Given the description of an element on the screen output the (x, y) to click on. 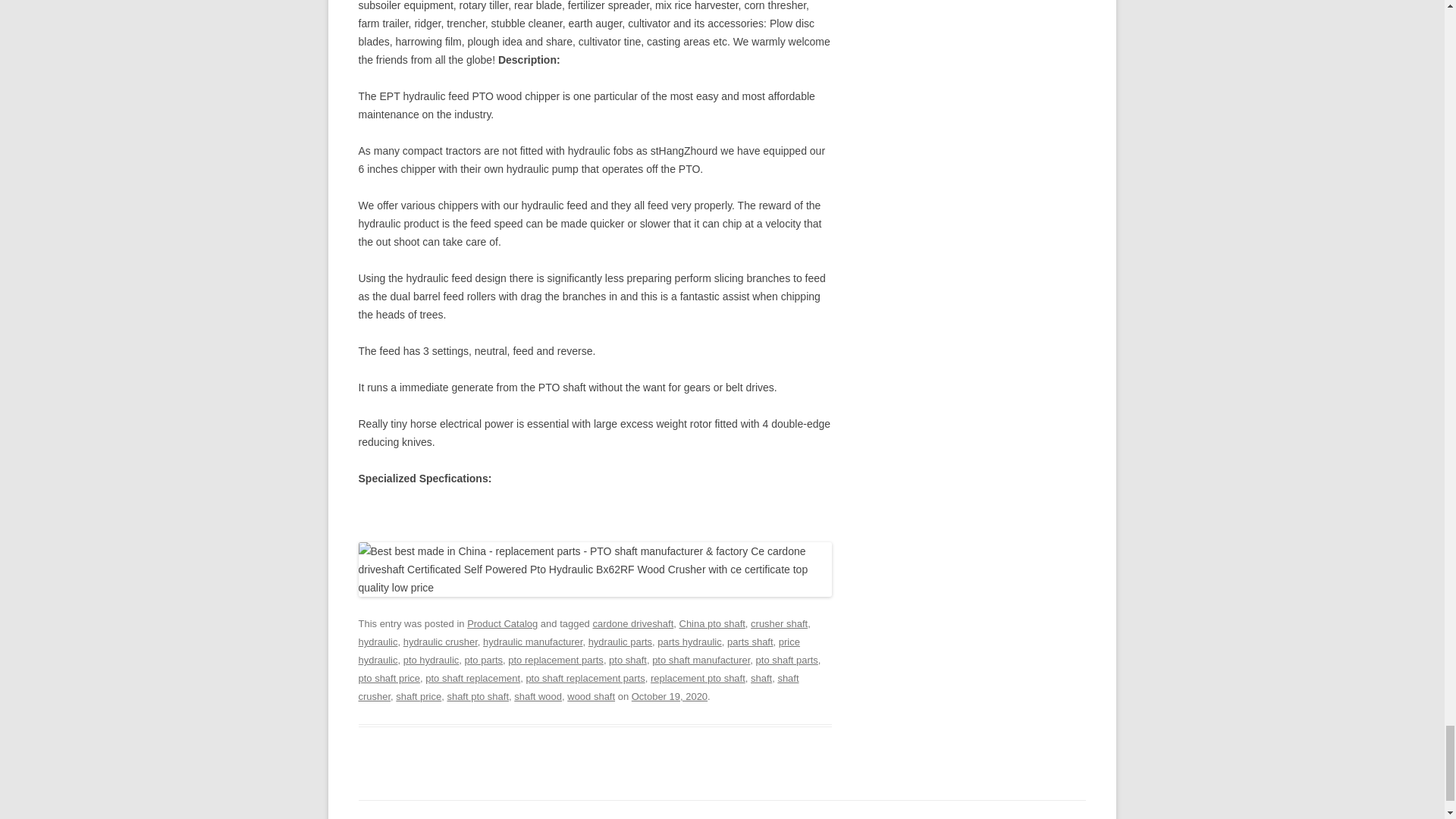
6:10 pm (669, 696)
